Given the description of an element on the screen output the (x, y) to click on. 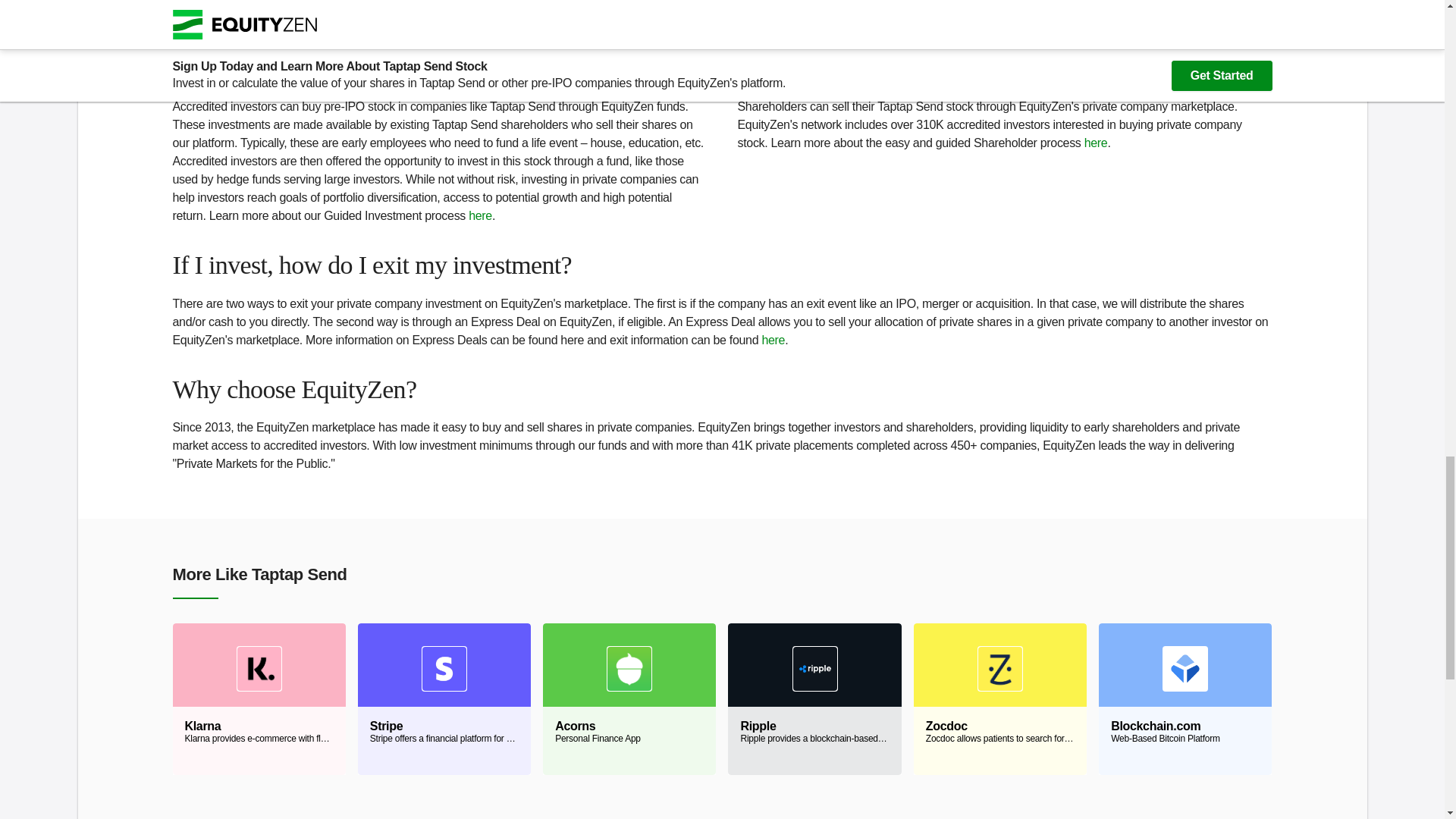
here (629, 698)
here (1185, 698)
here (480, 215)
